Given the description of an element on the screen output the (x, y) to click on. 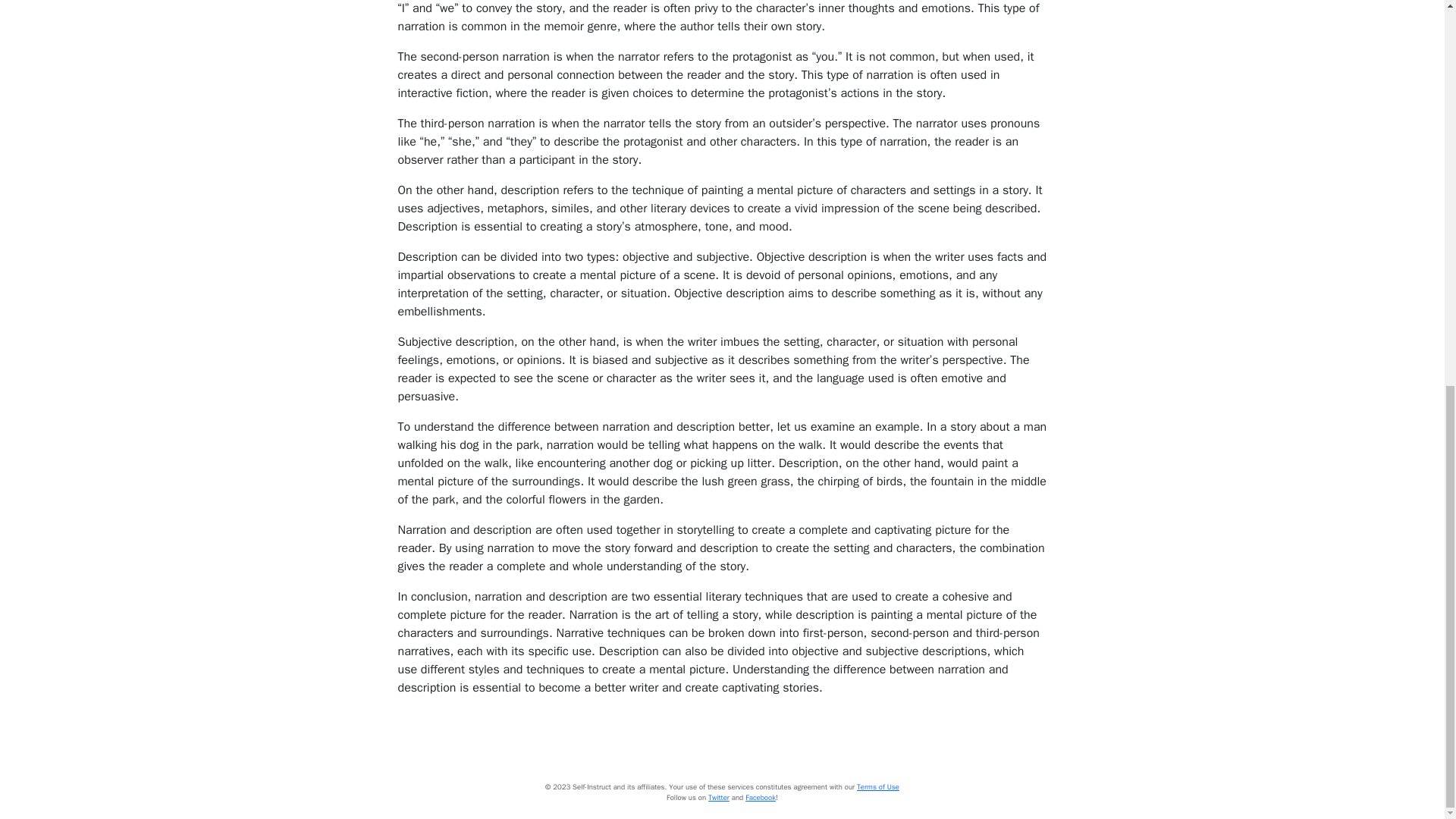
Terms of Use (878, 786)
Facebook (760, 797)
Twitter (718, 797)
